Given the description of an element on the screen output the (x, y) to click on. 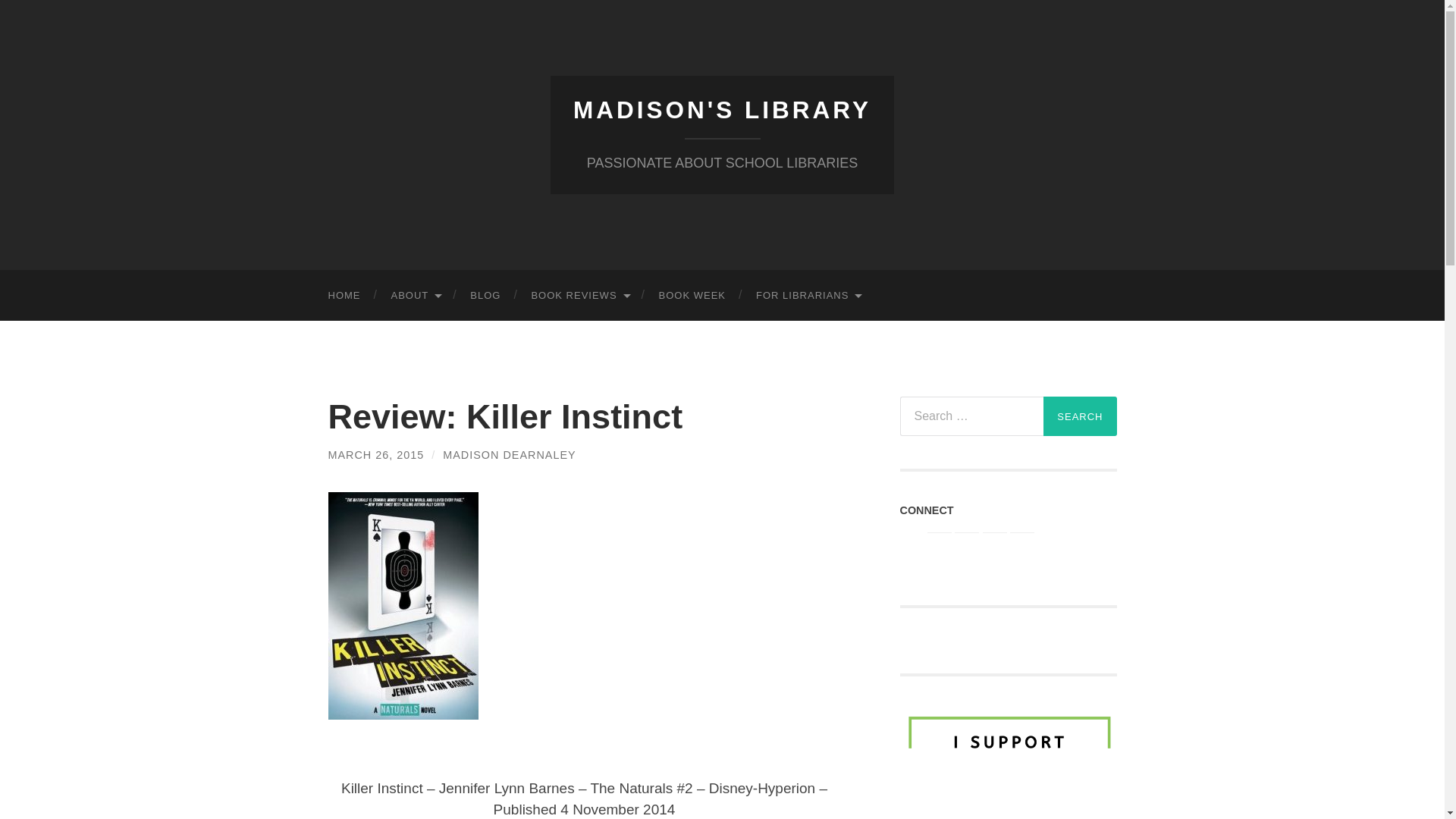
Posts by Madison Dearnaley (508, 454)
MADISON'S LIBRARY (721, 109)
Search (1079, 415)
FOR LIBRARIANS (808, 295)
HOME (344, 295)
BLOG (484, 295)
BOOK WEEK (692, 295)
ABOUT (415, 295)
Search (1079, 415)
BOOK REVIEWS (579, 295)
